Given the description of an element on the screen output the (x, y) to click on. 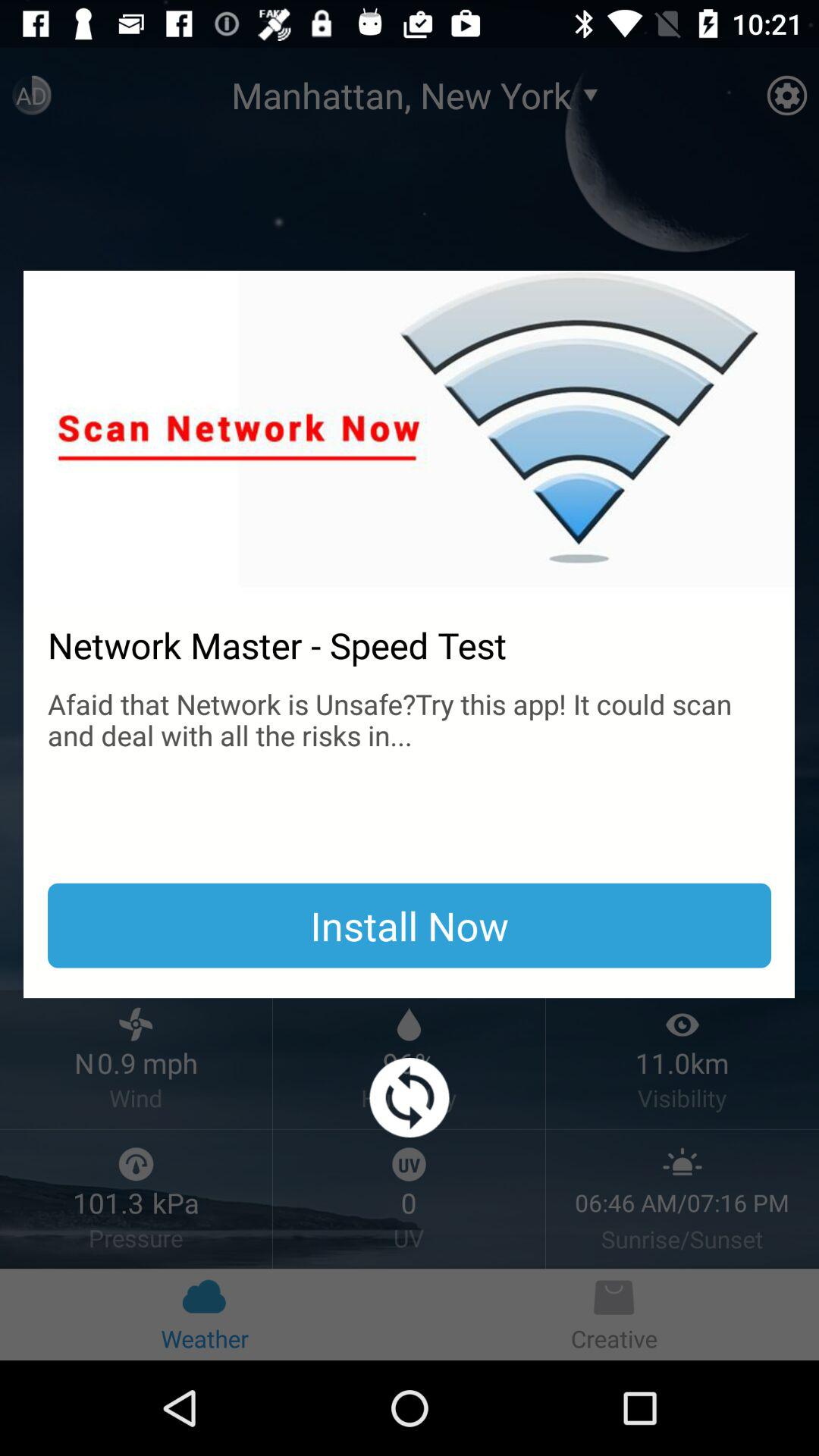
tap the icon below install now (409, 1097)
